Given the description of an element on the screen output the (x, y) to click on. 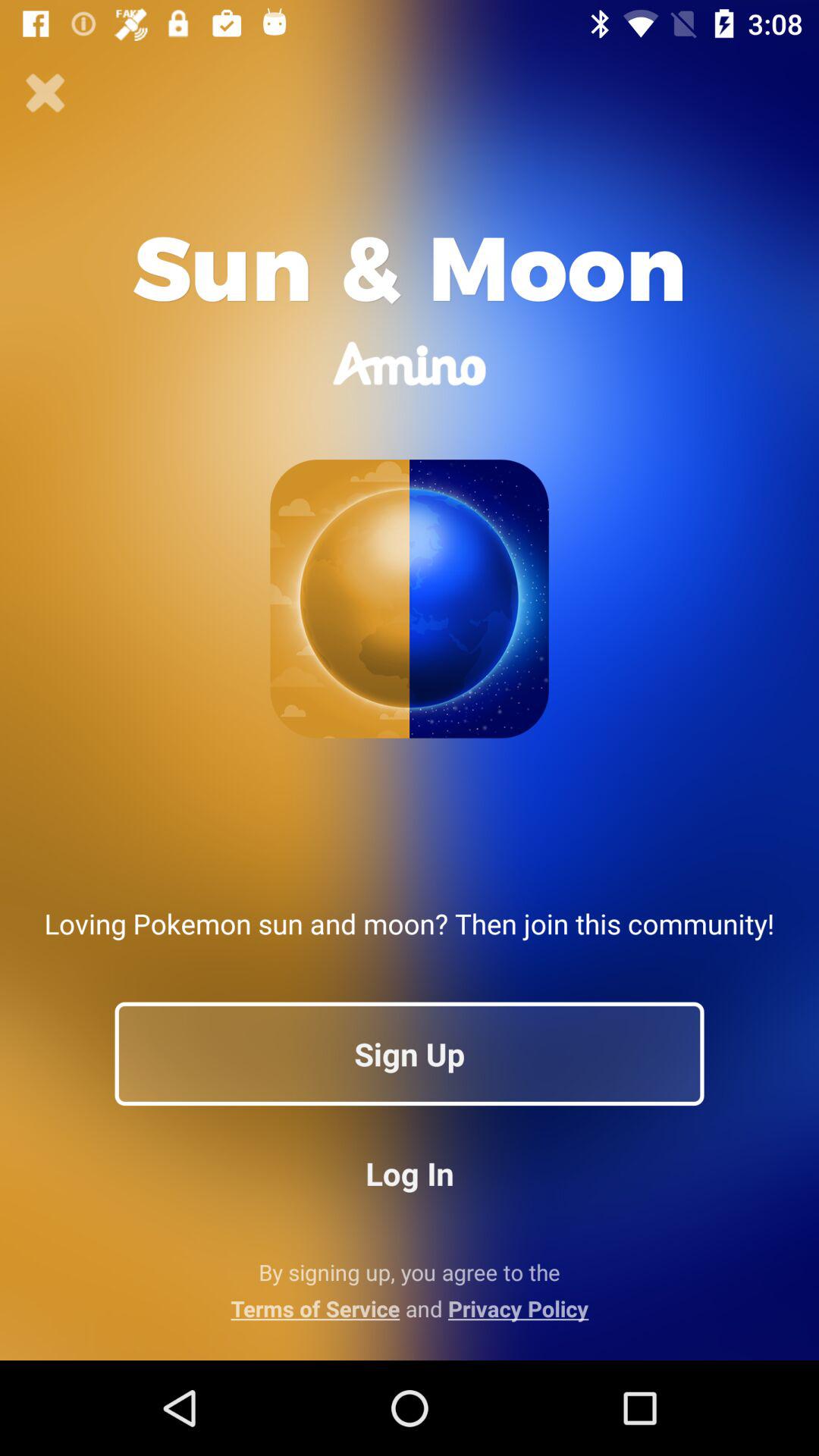
tap the app below loving pokemon sun app (409, 1053)
